Given the description of an element on the screen output the (x, y) to click on. 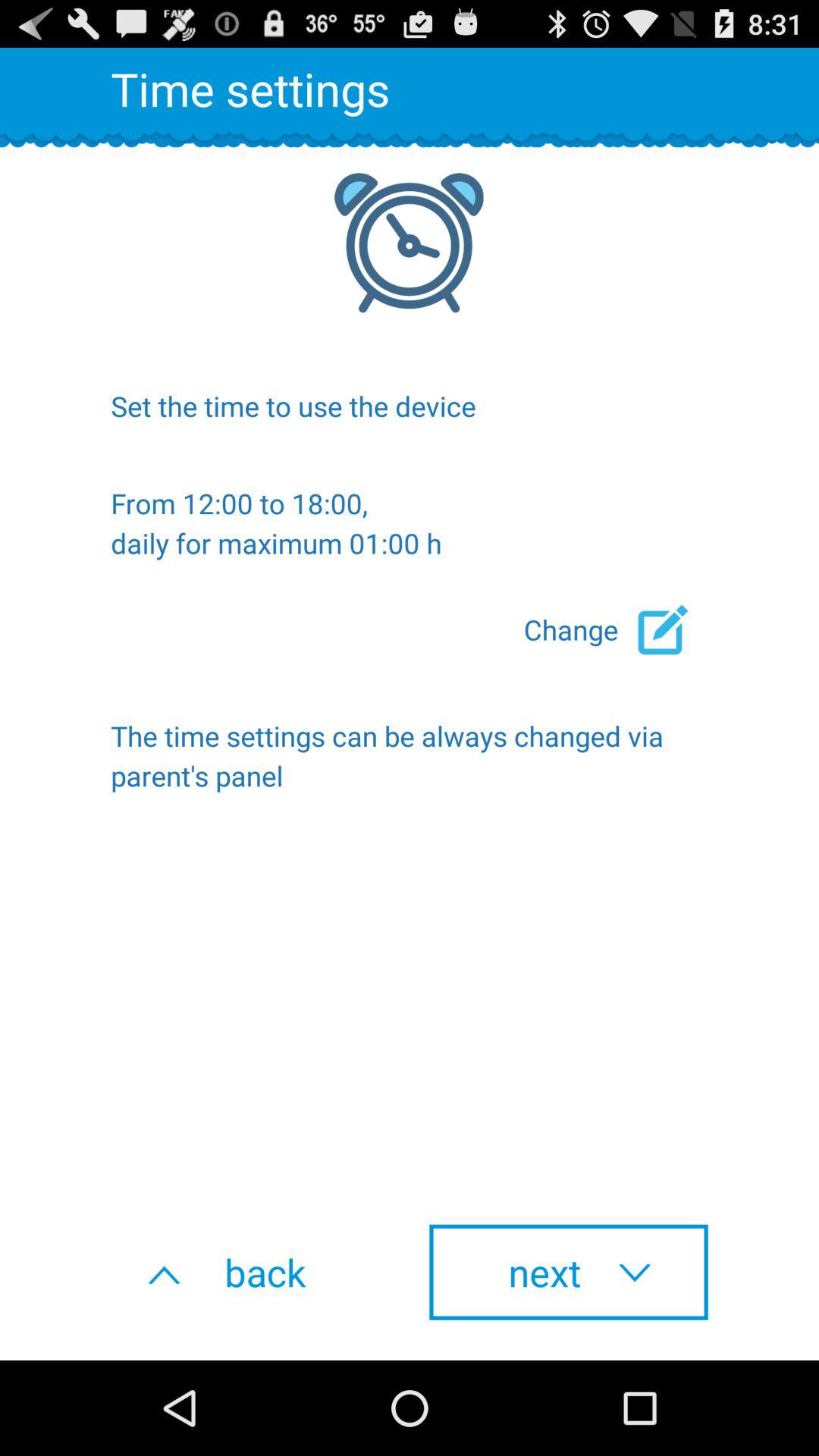
tap the item above the time settings item (615, 629)
